Given the description of an element on the screen output the (x, y) to click on. 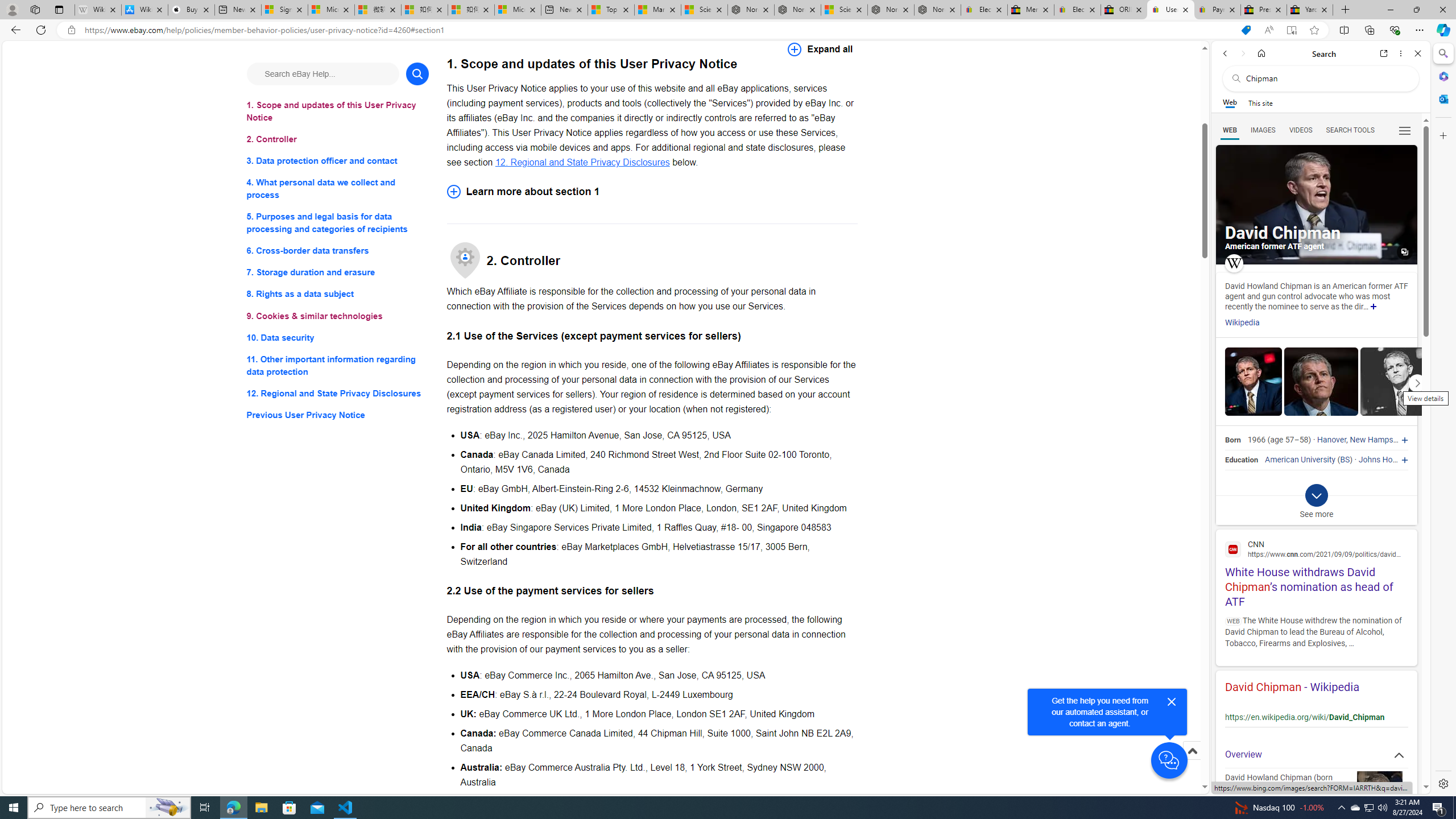
6. Cross-border data transfers (337, 250)
Scroll to top (1191, 750)
Learn more about section 1 (651, 191)
10. Data security (337, 336)
Search eBay Help... (322, 73)
